Given the description of an element on the screen output the (x, y) to click on. 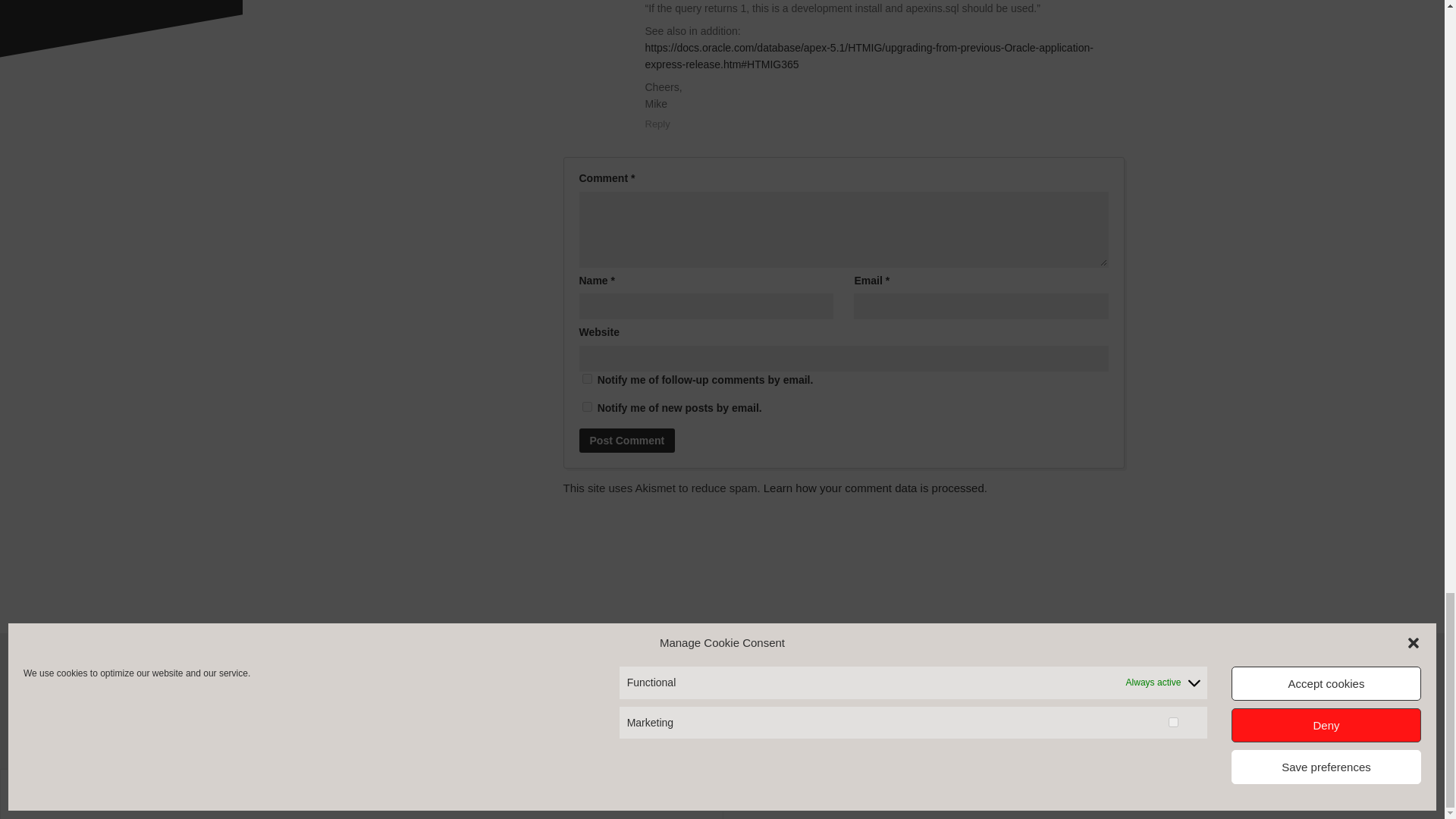
Post Comment (627, 440)
subscribe (587, 378)
subscribe (587, 406)
